Given the description of an element on the screen output the (x, y) to click on. 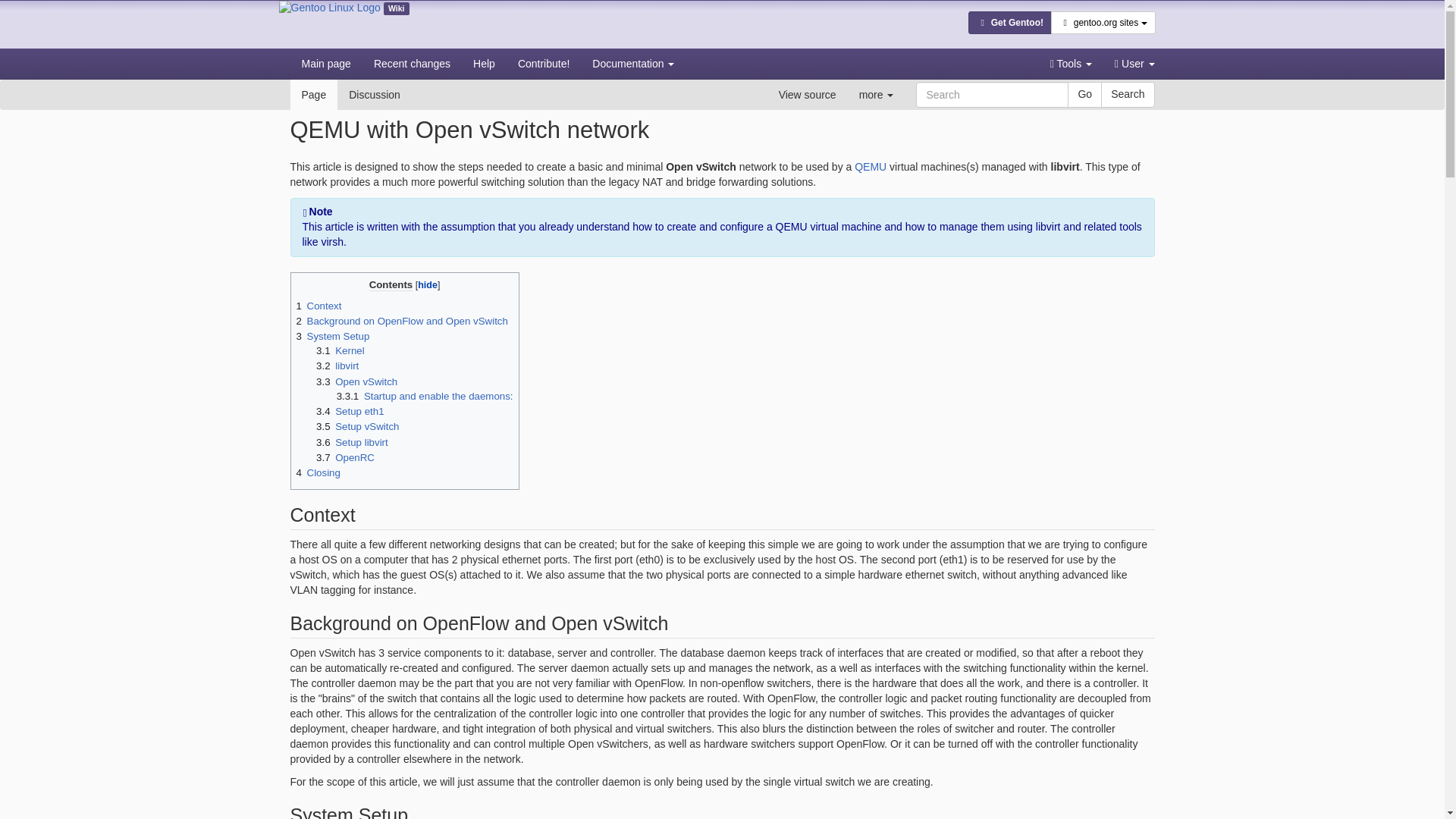
Search (1127, 94)
Go (1084, 94)
Main page (325, 63)
Tools (1071, 63)
Get Gentoo! (1009, 22)
Contribute! (543, 63)
Back to the homepage (329, 24)
gentoo.org sites (1103, 22)
Documentation (632, 63)
Recent changes (411, 63)
